Given the description of an element on the screen output the (x, y) to click on. 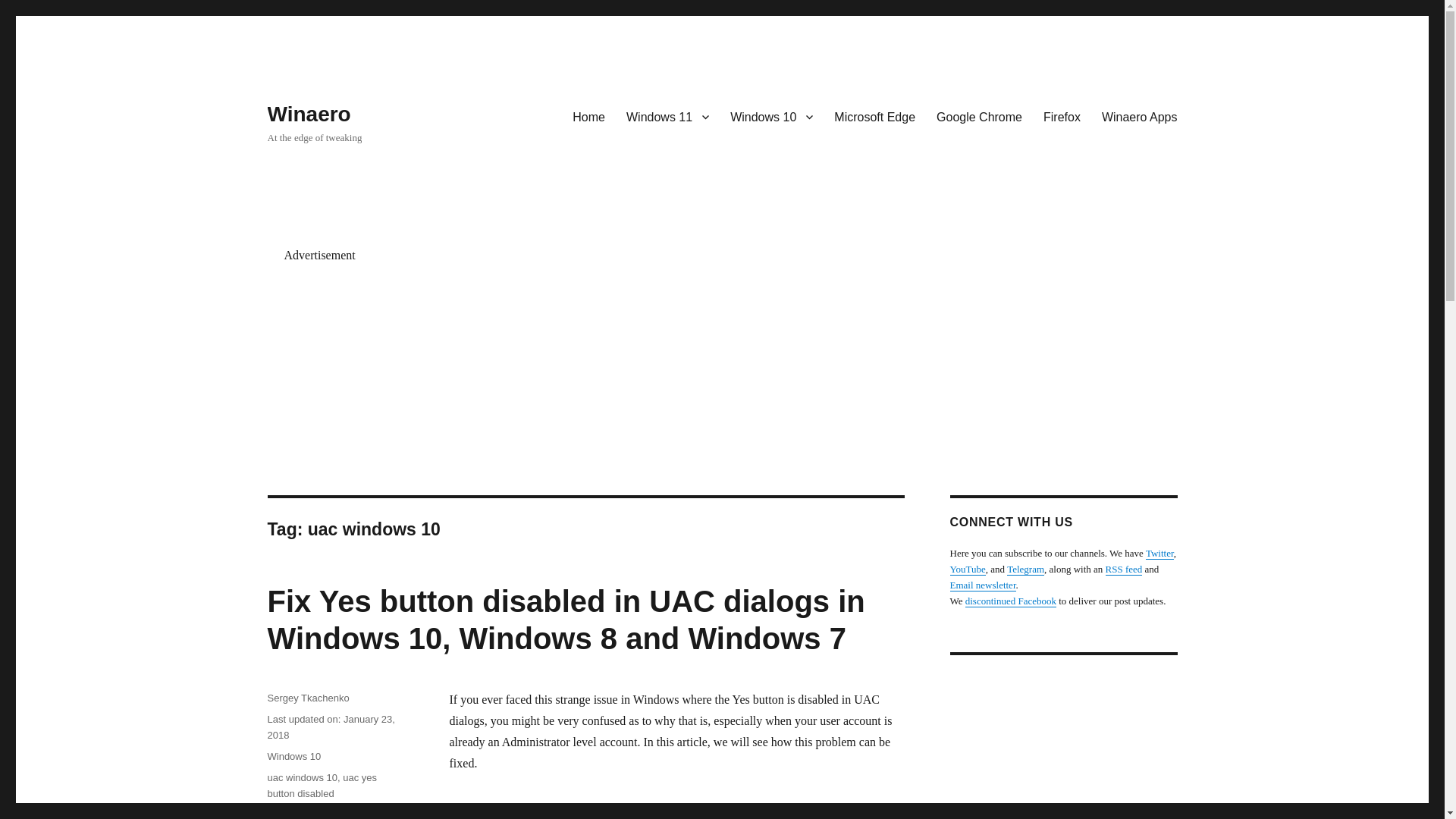
Firefox (1061, 116)
Subscribe with email (981, 584)
Windows 11 (667, 116)
uac windows 10 (301, 777)
YouTube (967, 568)
Microsoft Edge (875, 116)
Windows 10 (771, 116)
Windows 10 (293, 756)
Google Chrome (979, 116)
Email newsletter (981, 584)
uac yes button disabled (321, 785)
RSS feed (1123, 568)
Sergey Tkachenko (307, 697)
Telegram (1025, 568)
